Given the description of an element on the screen output the (x, y) to click on. 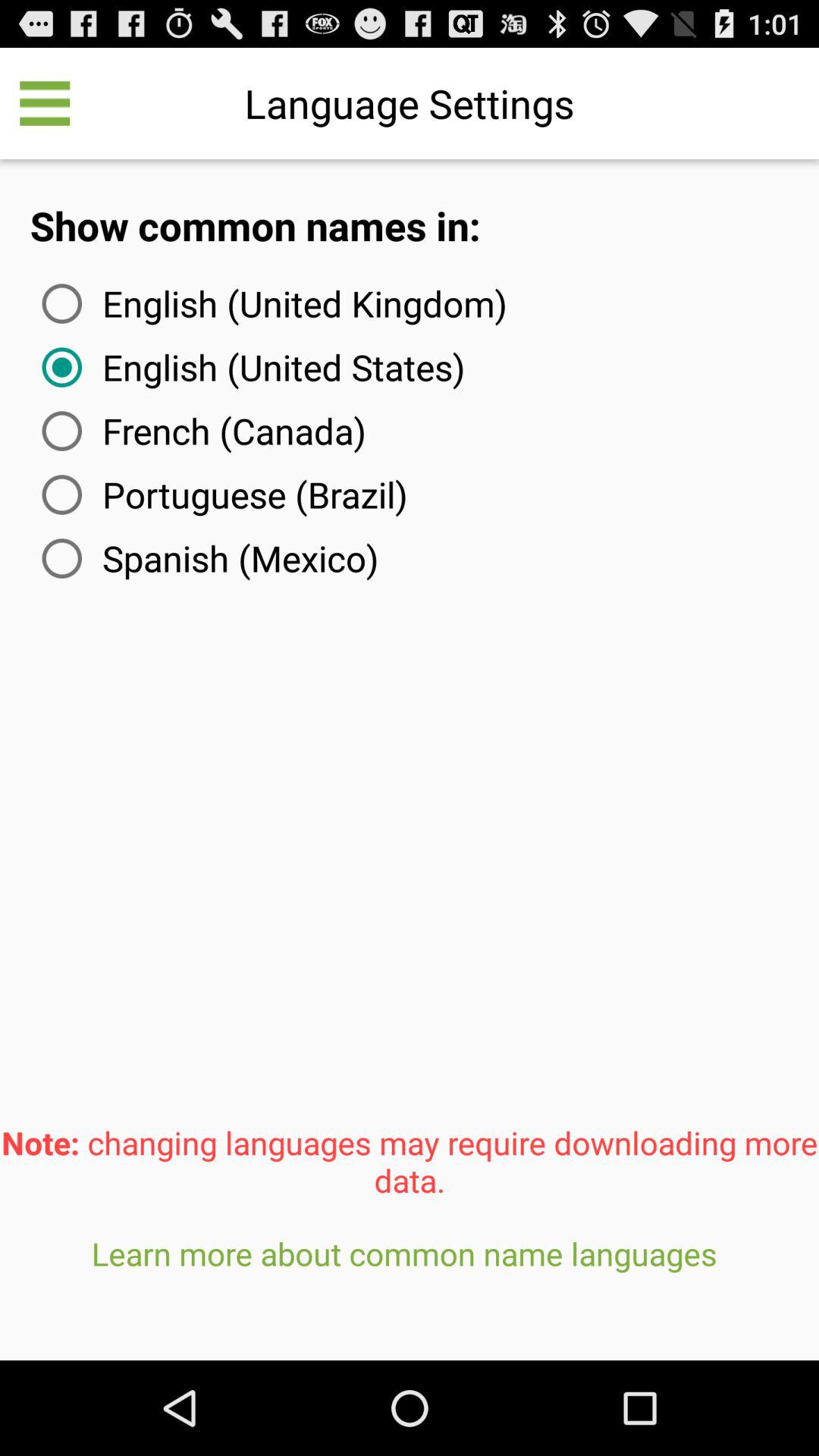
jump to spanish (mexico) icon (207, 558)
